Given the description of an element on the screen output the (x, y) to click on. 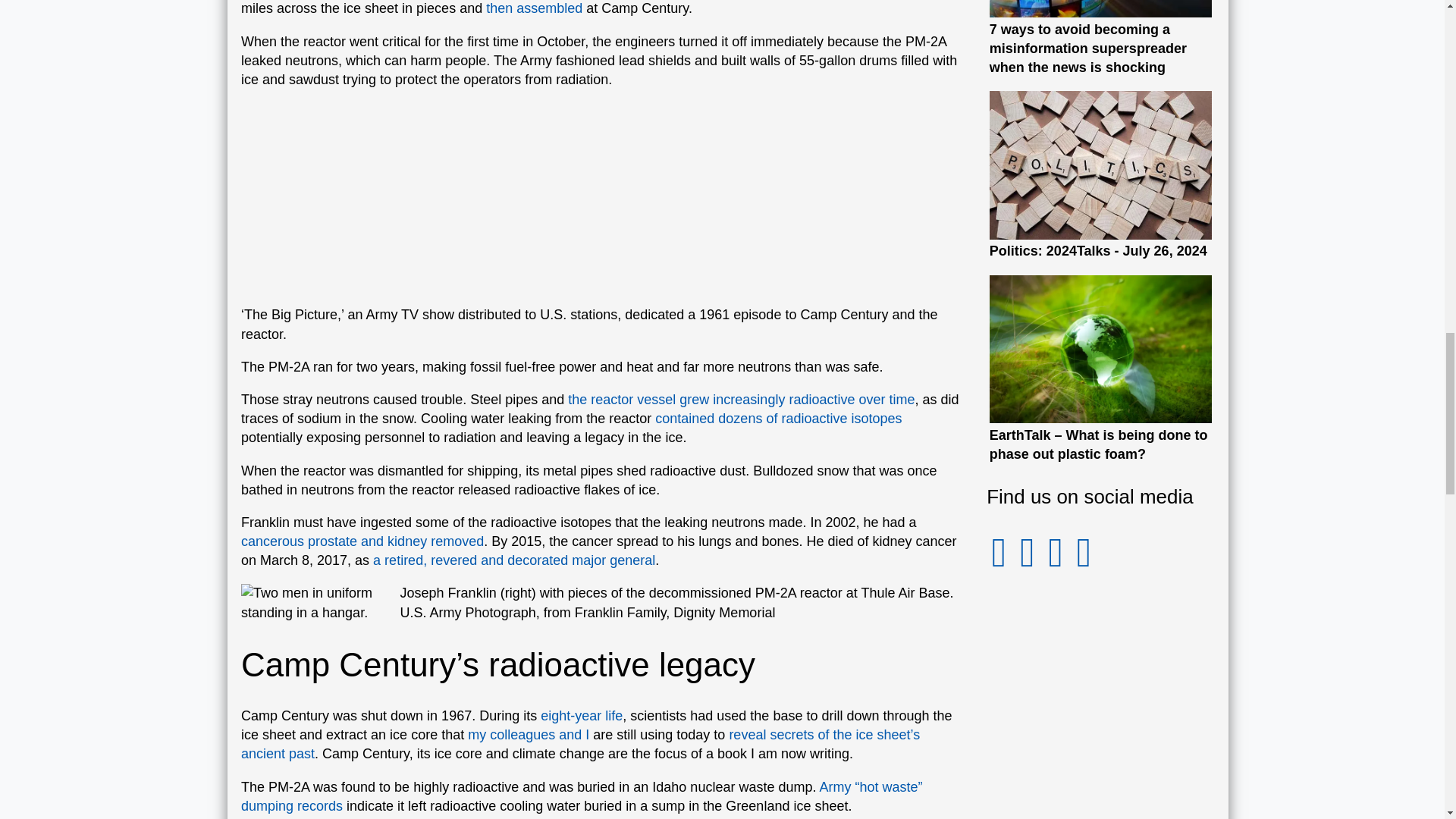
PROMO 660 x 440 - Environment EarthTalk (1101, 349)
